Given the description of an element on the screen output the (x, y) to click on. 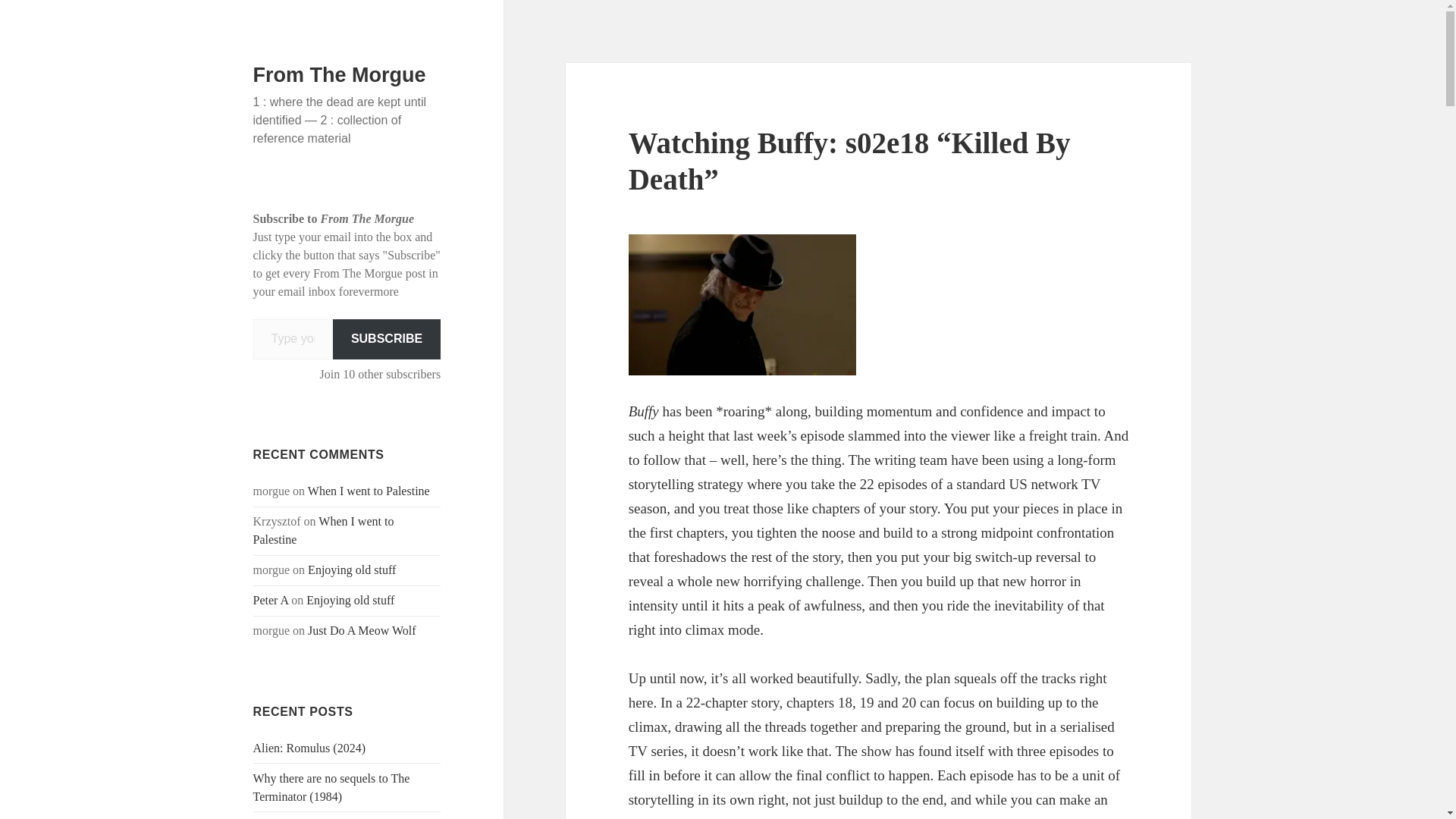
Please fill in this field. (293, 339)
SUBSCRIBE (387, 339)
From The Morgue (339, 74)
Peter A (270, 599)
Just Do A Meow Wolf (360, 630)
When I went to Palestine (368, 490)
Enjoying old stuff (349, 599)
When I went to Palestine (323, 530)
Enjoying old stuff (351, 569)
